Given the description of an element on the screen output the (x, y) to click on. 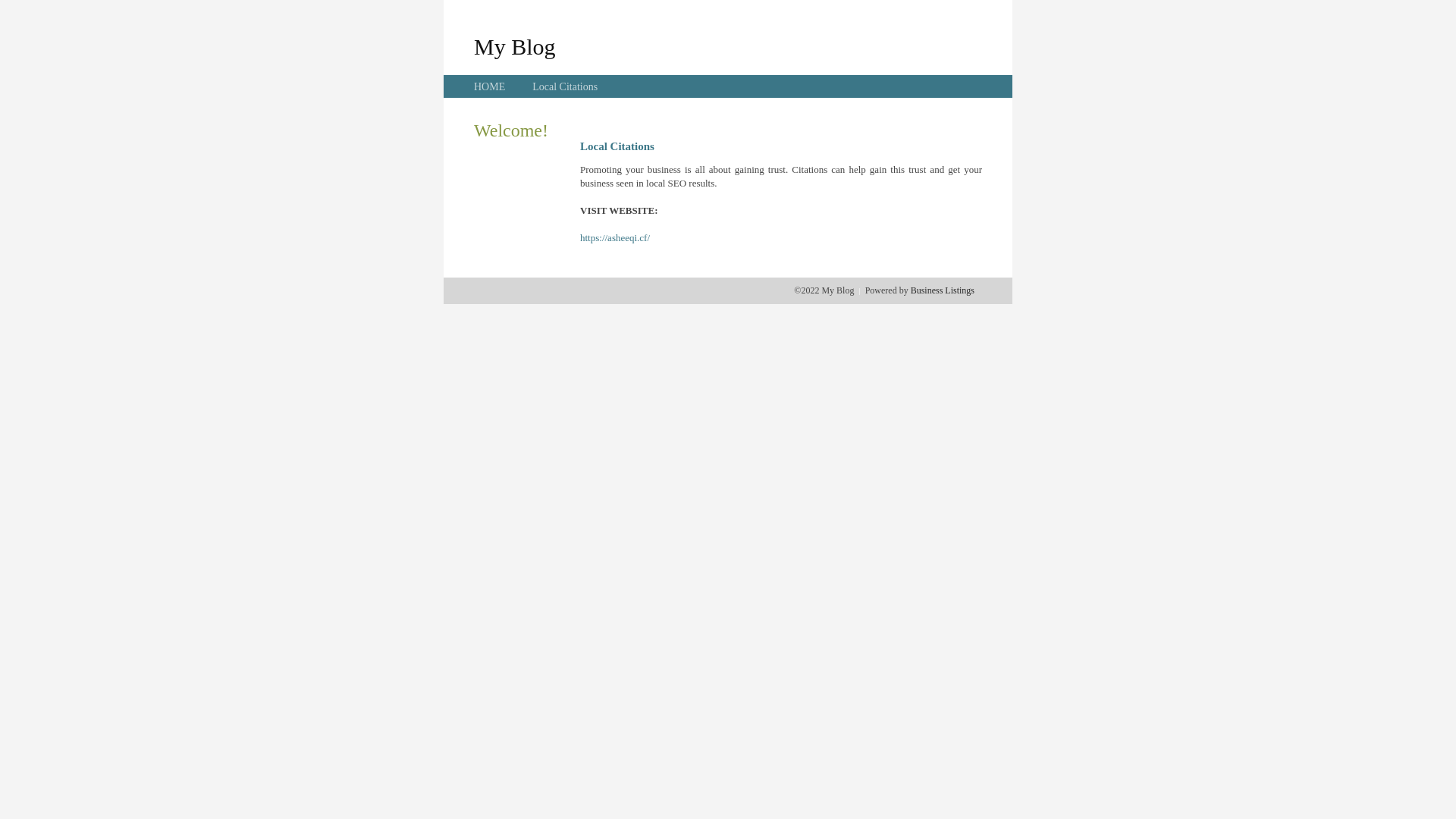
HOME Element type: text (489, 86)
Business Listings Element type: text (942, 290)
Local Citations Element type: text (564, 86)
My Blog Element type: text (514, 46)
https://asheeqi.cf/ Element type: text (614, 237)
